Given the description of an element on the screen output the (x, y) to click on. 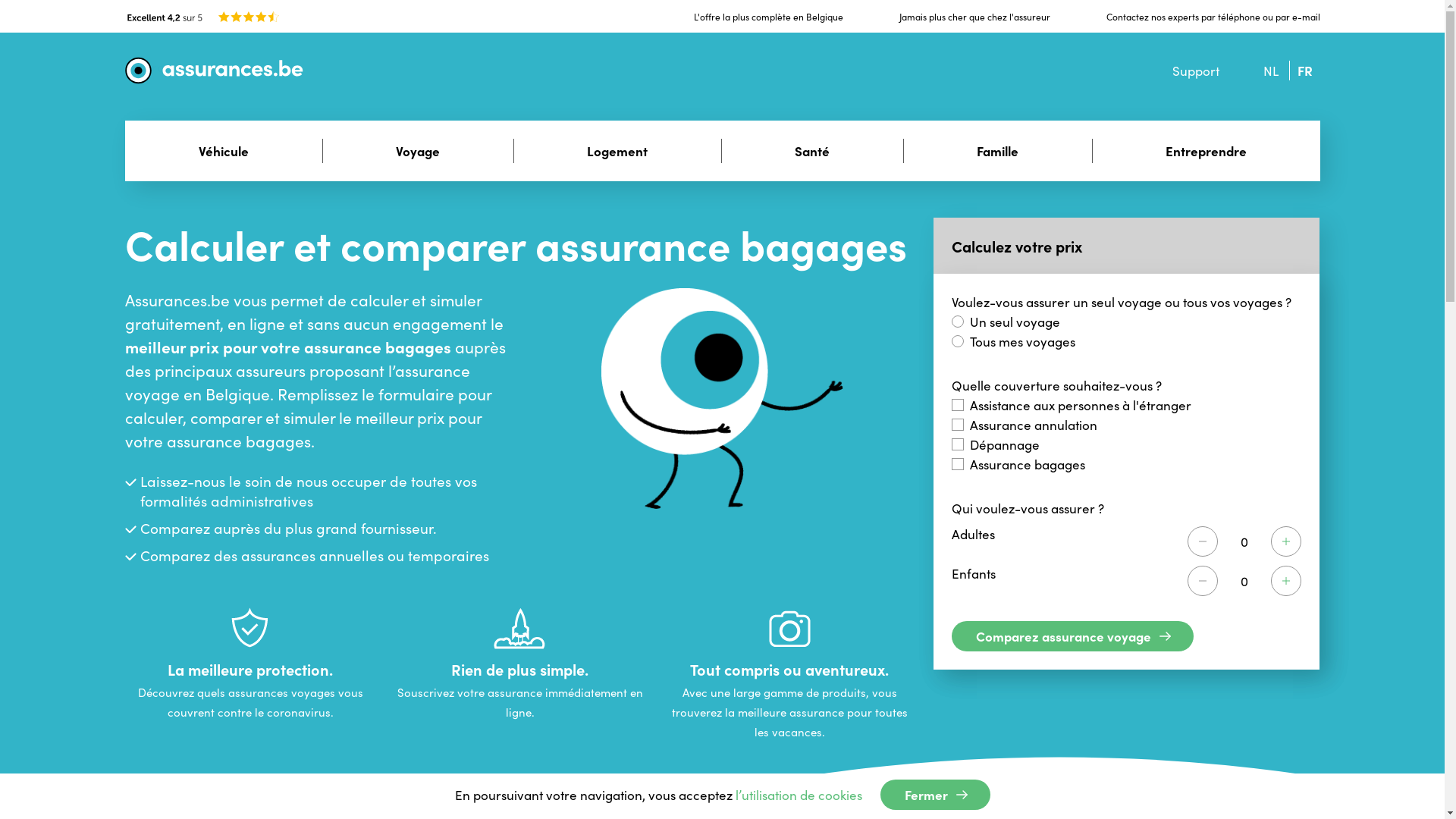
FR Element type: text (1303, 70)
Assurances.be Element type: text (230, 70)
Voyage Element type: text (416, 150)
NL Element type: text (1270, 70)
Famille Element type: text (996, 150)
Entreprendre Element type: text (1206, 150)
Fermer Element type: text (934, 794)
Comparez assurance voyage Element type: text (1072, 636)
Support Element type: text (1195, 70)
Logement Element type: text (616, 150)
